Given the description of an element on the screen output the (x, y) to click on. 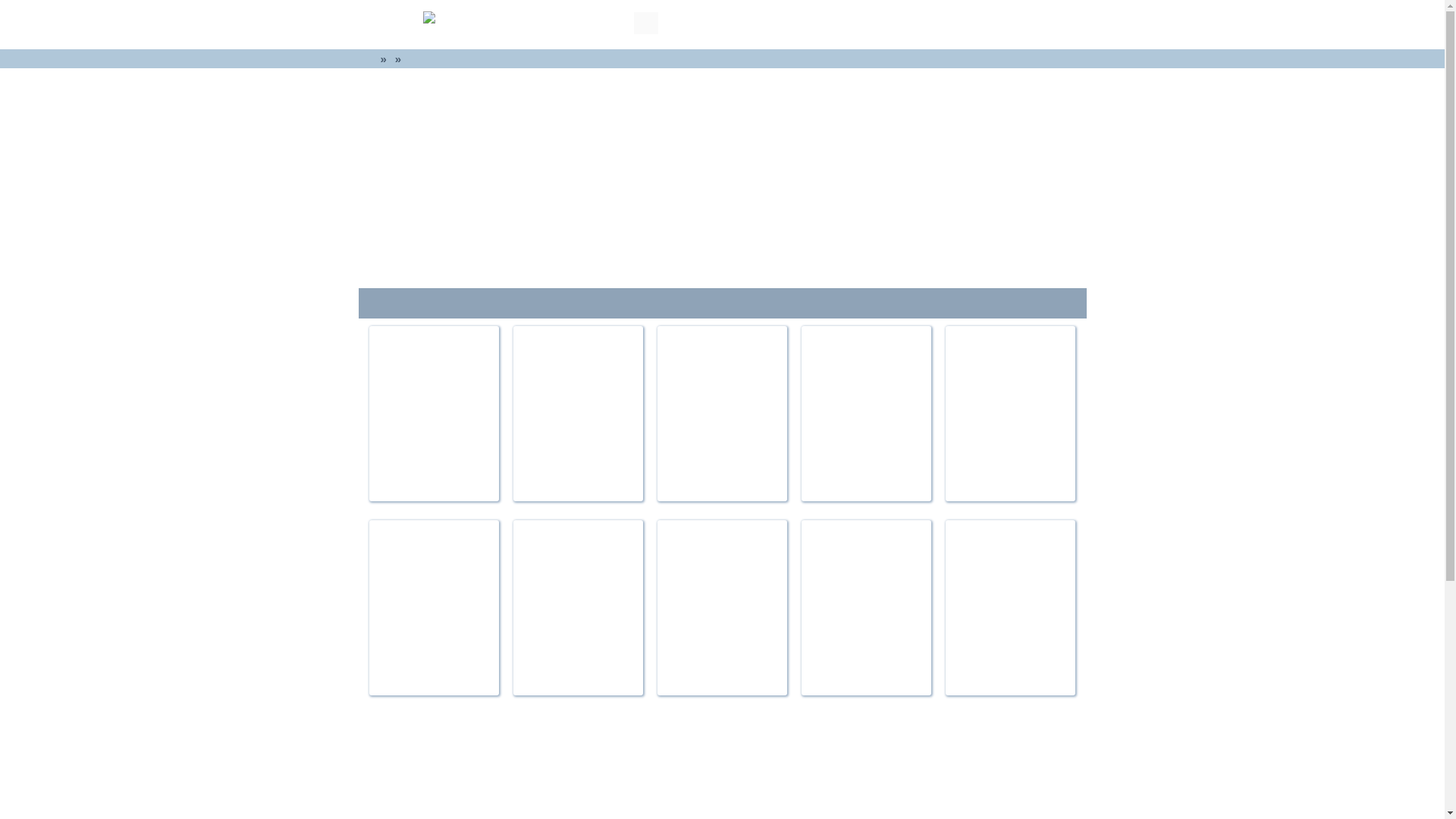
search (546, 23)
MAC (1048, 24)
Search (645, 23)
search (645, 23)
Search (645, 23)
MENU (386, 22)
Search (645, 23)
DOWNLOAD (860, 24)
ONLINE (934, 24)
MOBILE (996, 24)
